Given the description of an element on the screen output the (x, y) to click on. 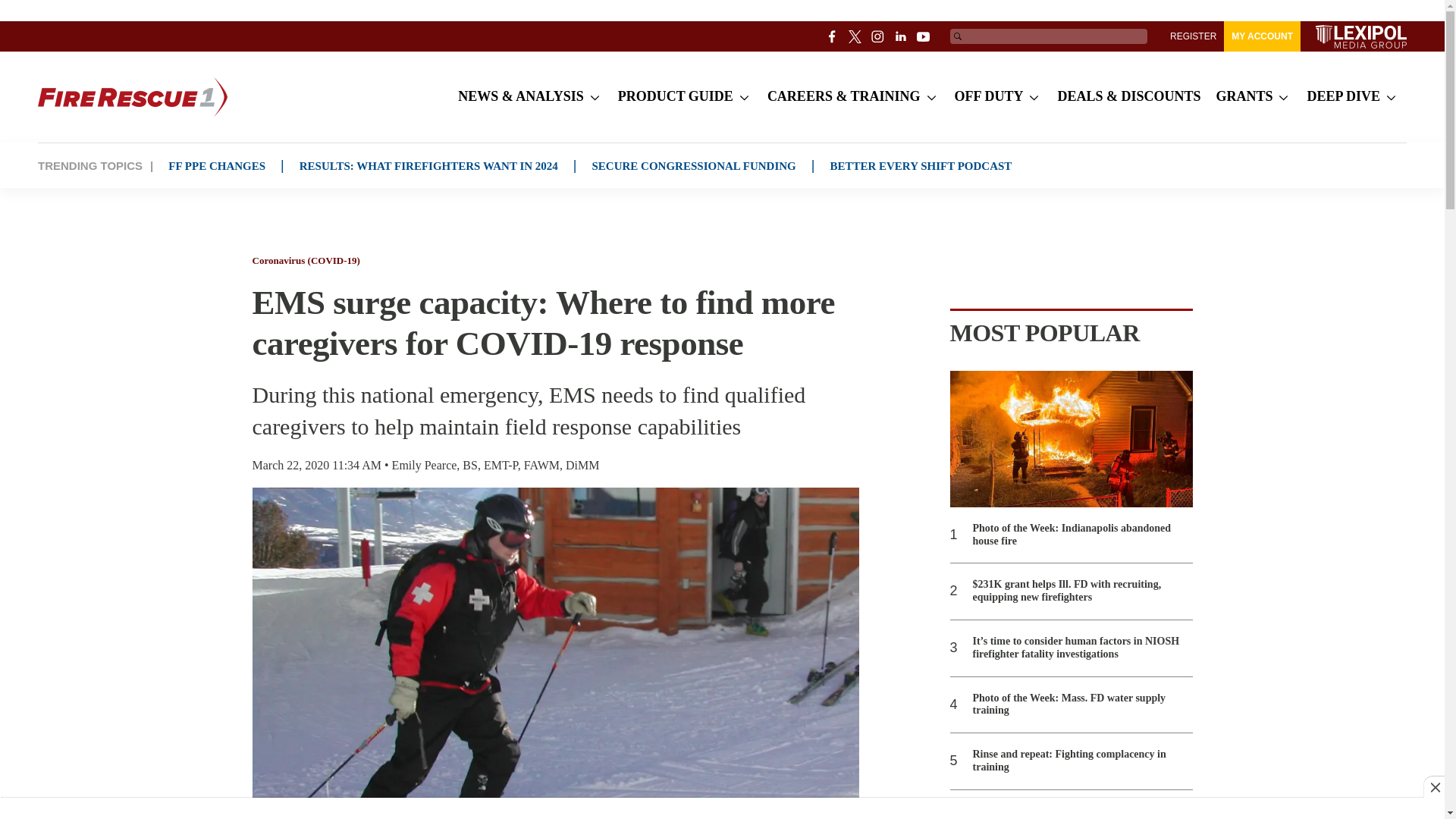
facebook (832, 36)
youtube (923, 36)
MY ACCOUNT (1262, 36)
instagram (877, 36)
twitter (855, 36)
linkedin (900, 36)
REGISTER (1192, 36)
